Given the description of an element on the screen output the (x, y) to click on. 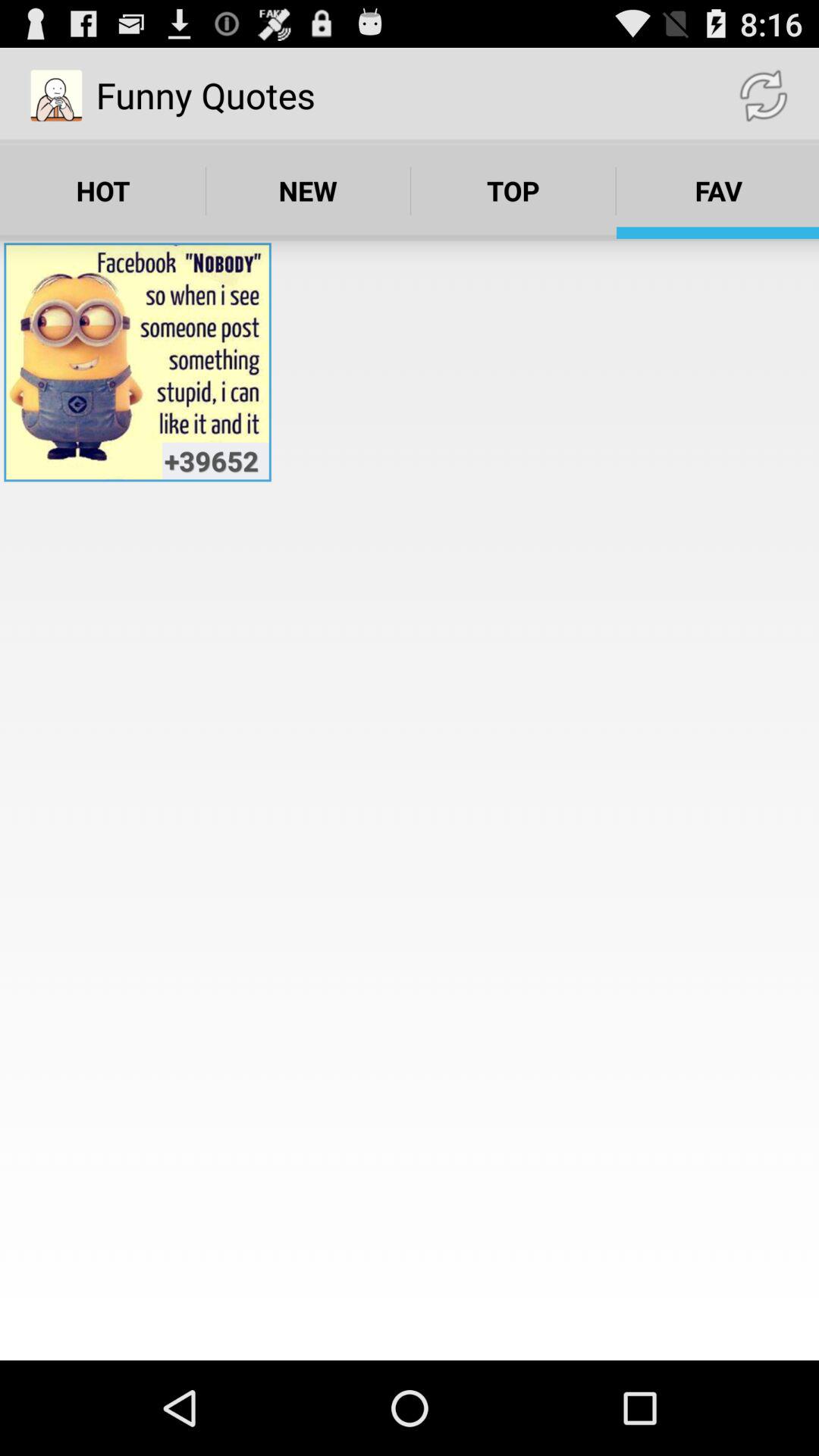
click app next to funny quotes item (763, 95)
